Given the description of an element on the screen output the (x, y) to click on. 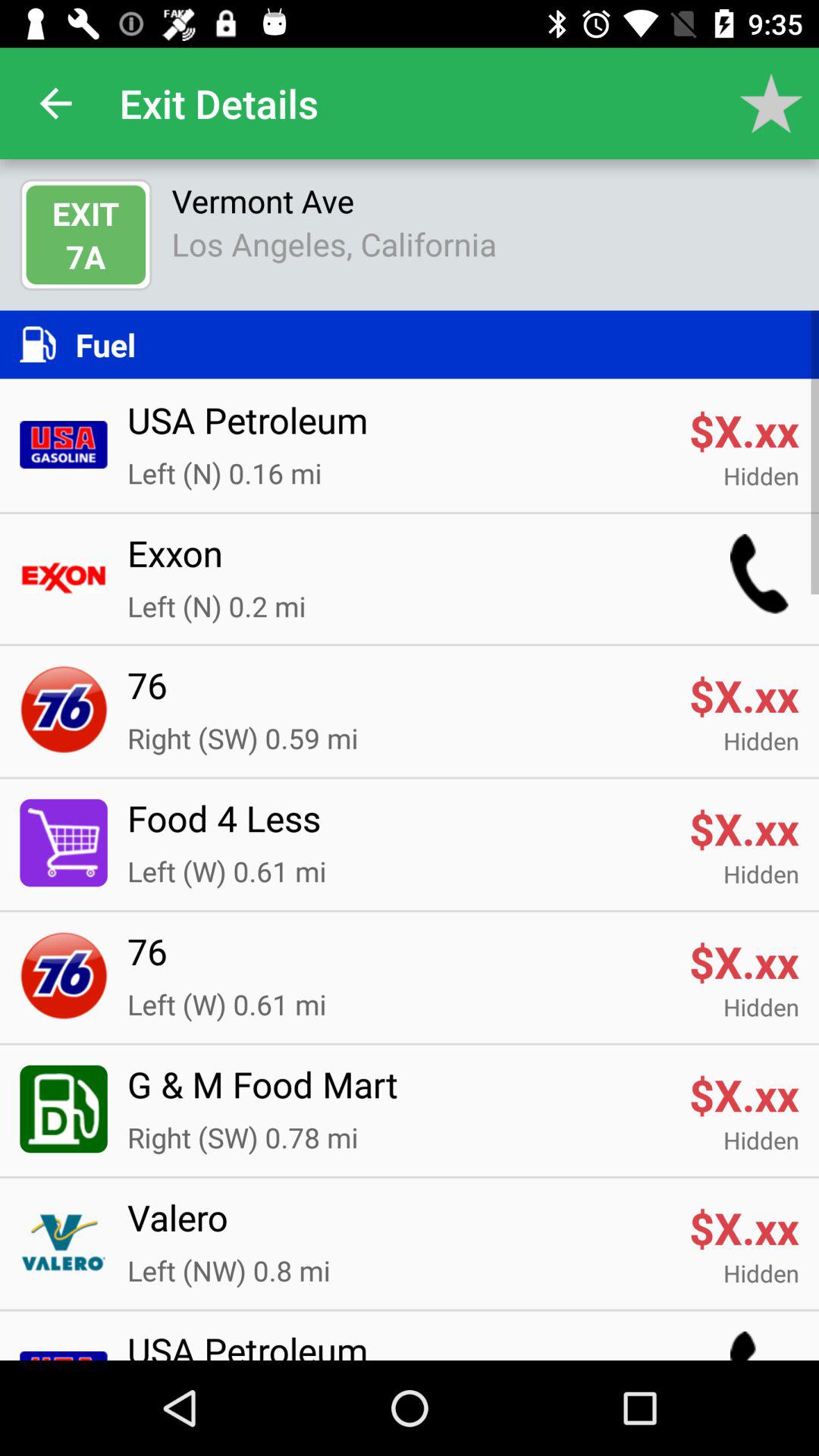
tap item next to fuel item (47, 344)
